Given the description of an element on the screen output the (x, y) to click on. 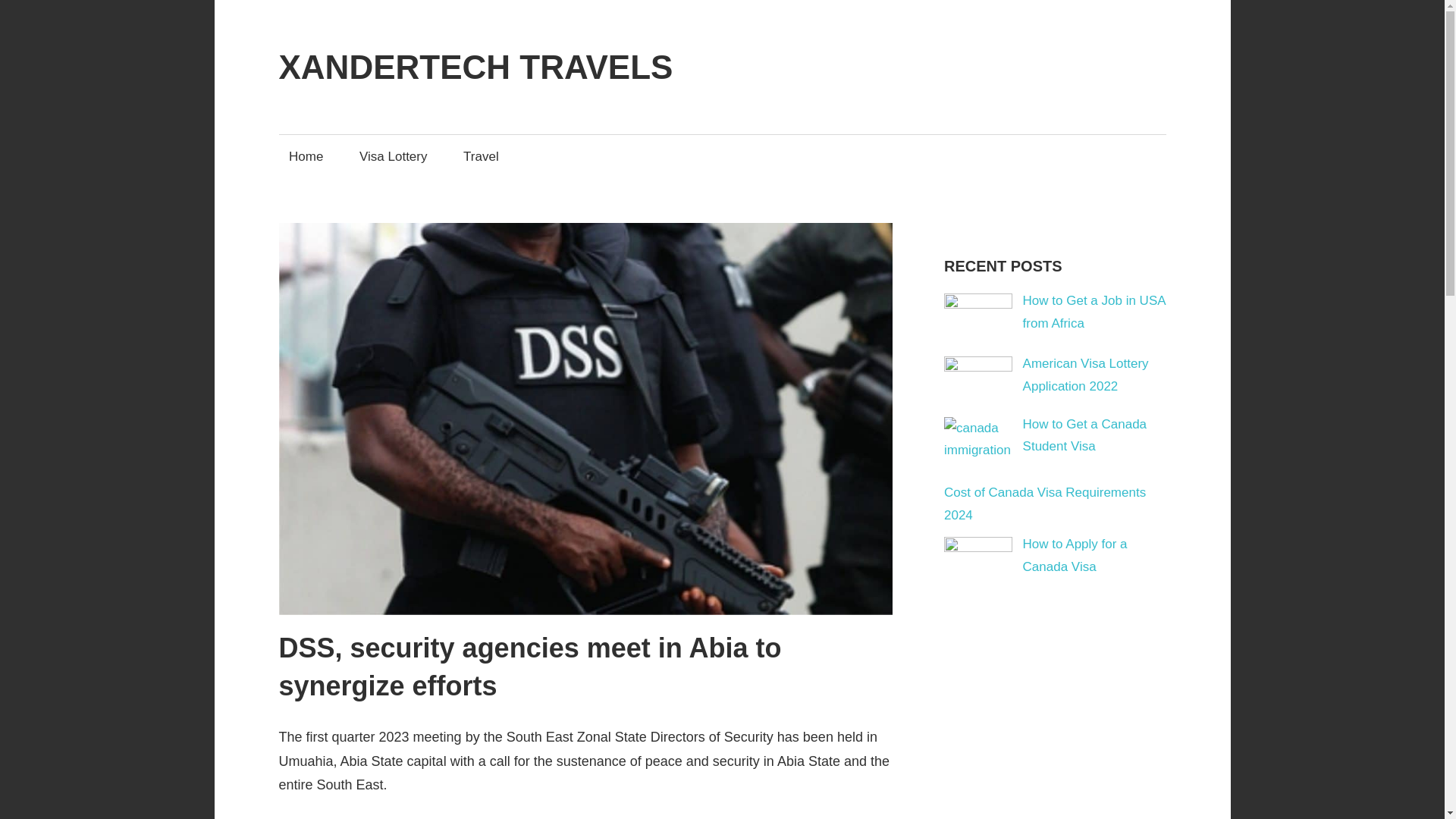
How to Apply for a Canada Visa (1074, 555)
How to Get a Canada Student Visa (1085, 435)
American Visa Lottery Application 2022 (1085, 374)
Cost of Canada Visa Requirements 2024 (1044, 503)
Cost of Canada Visa Requirements 2024 (1044, 503)
How to Get a Canada Student Visa (1085, 435)
Visa Lottery (393, 156)
American Visa Lottery Application 2022 (1085, 374)
How to Get a Job in USA from Africa (1094, 311)
Home (306, 156)
How to Get a Job in USA from Africa (1094, 311)
How to Apply for a Canada Visa (1074, 555)
Travel (480, 156)
XANDERTECH TRAVELS (475, 66)
